Given the description of an element on the screen output the (x, y) to click on. 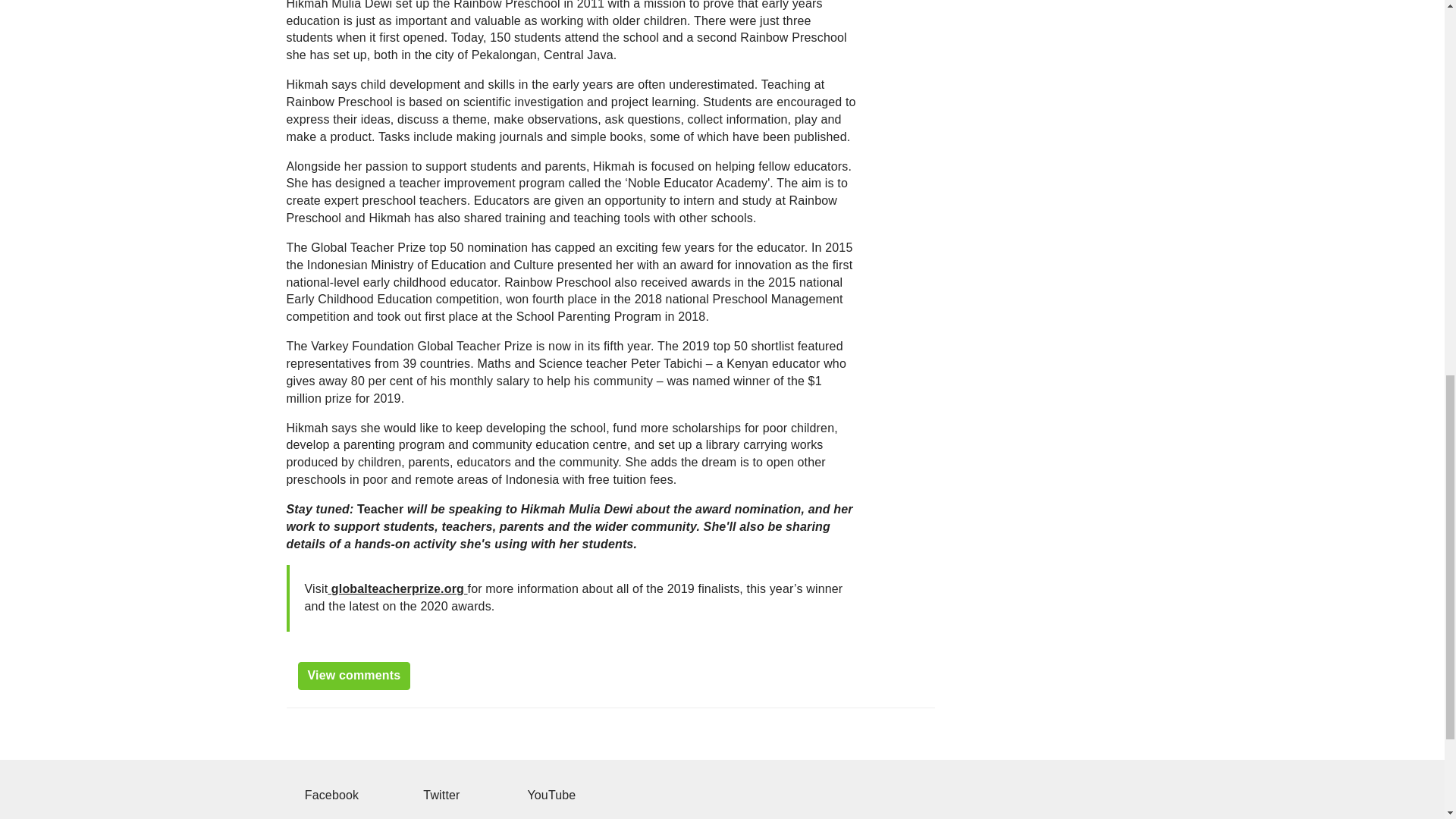
globalteacherprize.org (397, 588)
View comments (353, 675)
Teacher on Facebook (330, 794)
Teacher on YouTube (548, 794)
Teacher on Twitter (439, 794)
Facebook (330, 794)
